Given the description of an element on the screen output the (x, y) to click on. 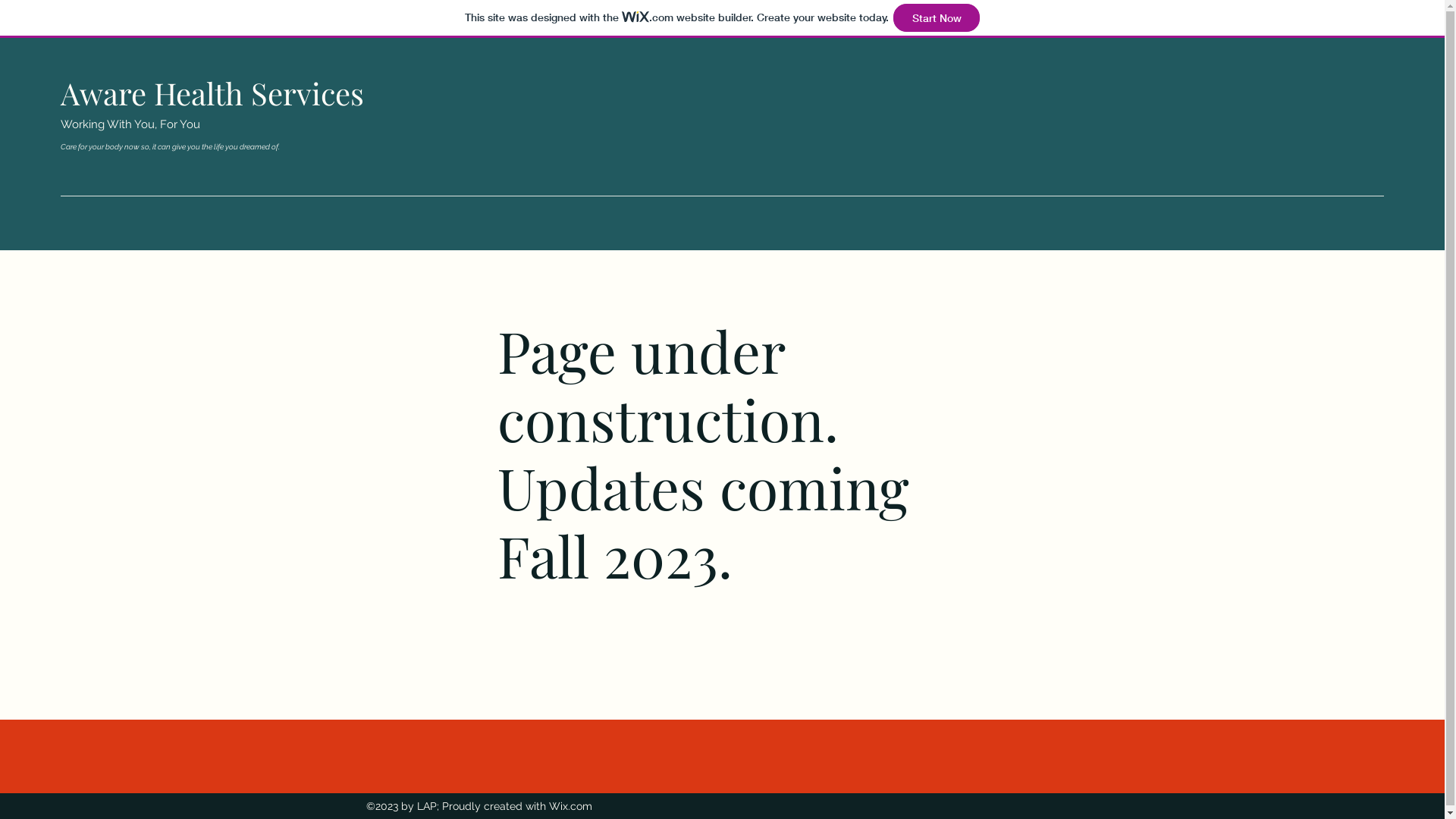
Aware Health Services Element type: text (212, 92)
